Given the description of an element on the screen output the (x, y) to click on. 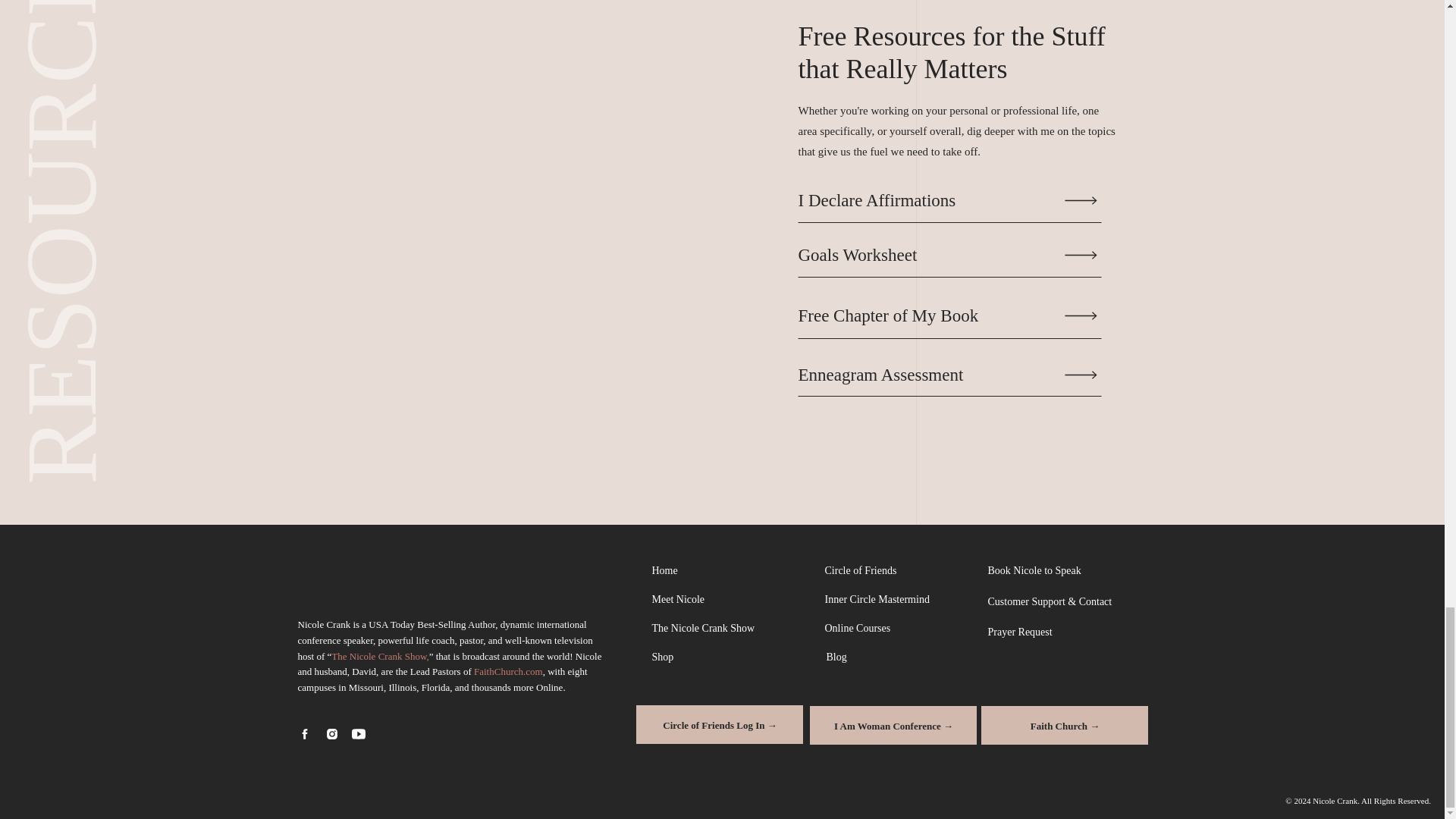
I Declare Affirmations (936, 200)
Goals Worksheet (936, 255)
